Given the description of an element on the screen output the (x, y) to click on. 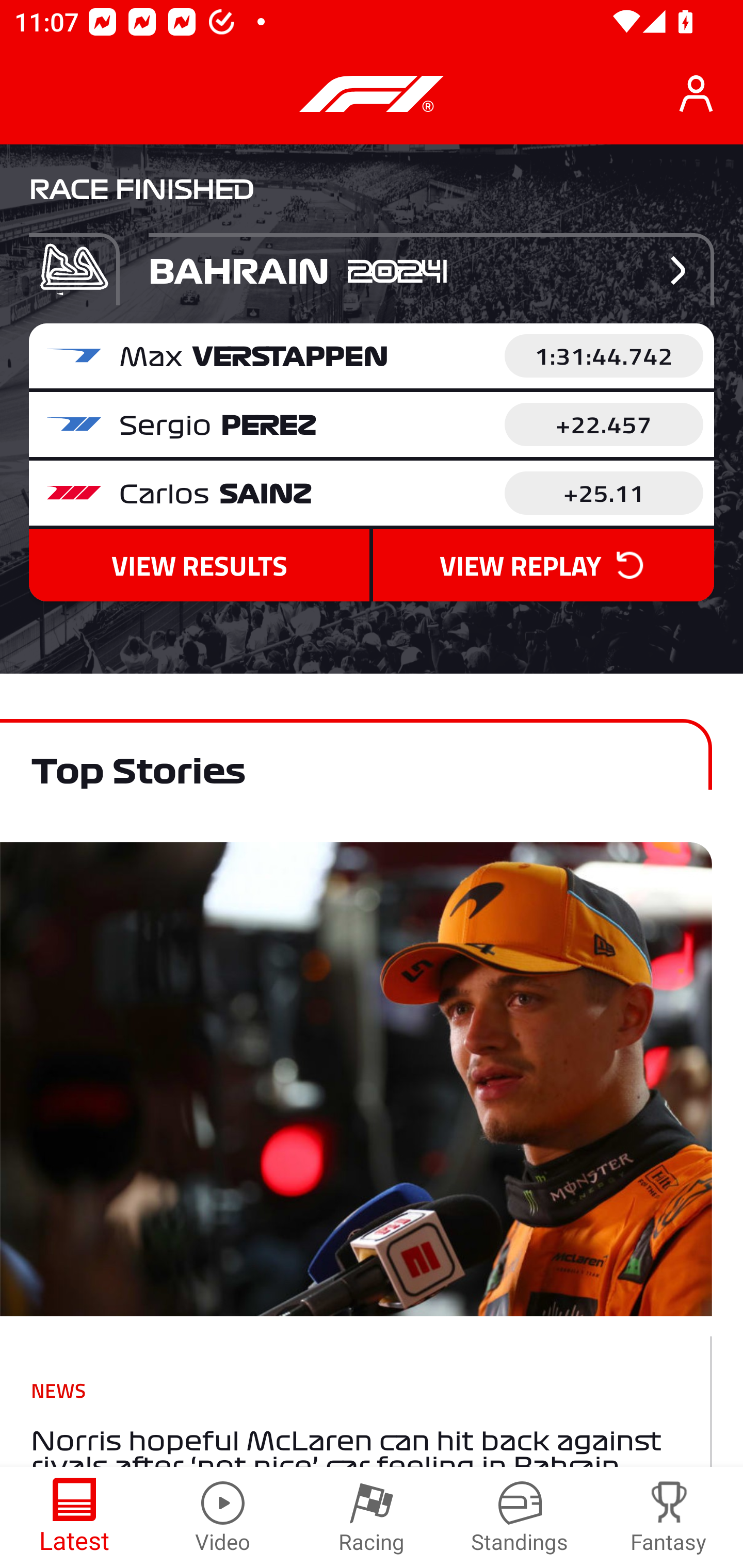
VIEW RESULTS (198, 565)
VIEW REPLAY (543, 565)
Video (222, 1517)
Racing (371, 1517)
Standings (519, 1517)
Fantasy (668, 1517)
